Given the description of an element on the screen output the (x, y) to click on. 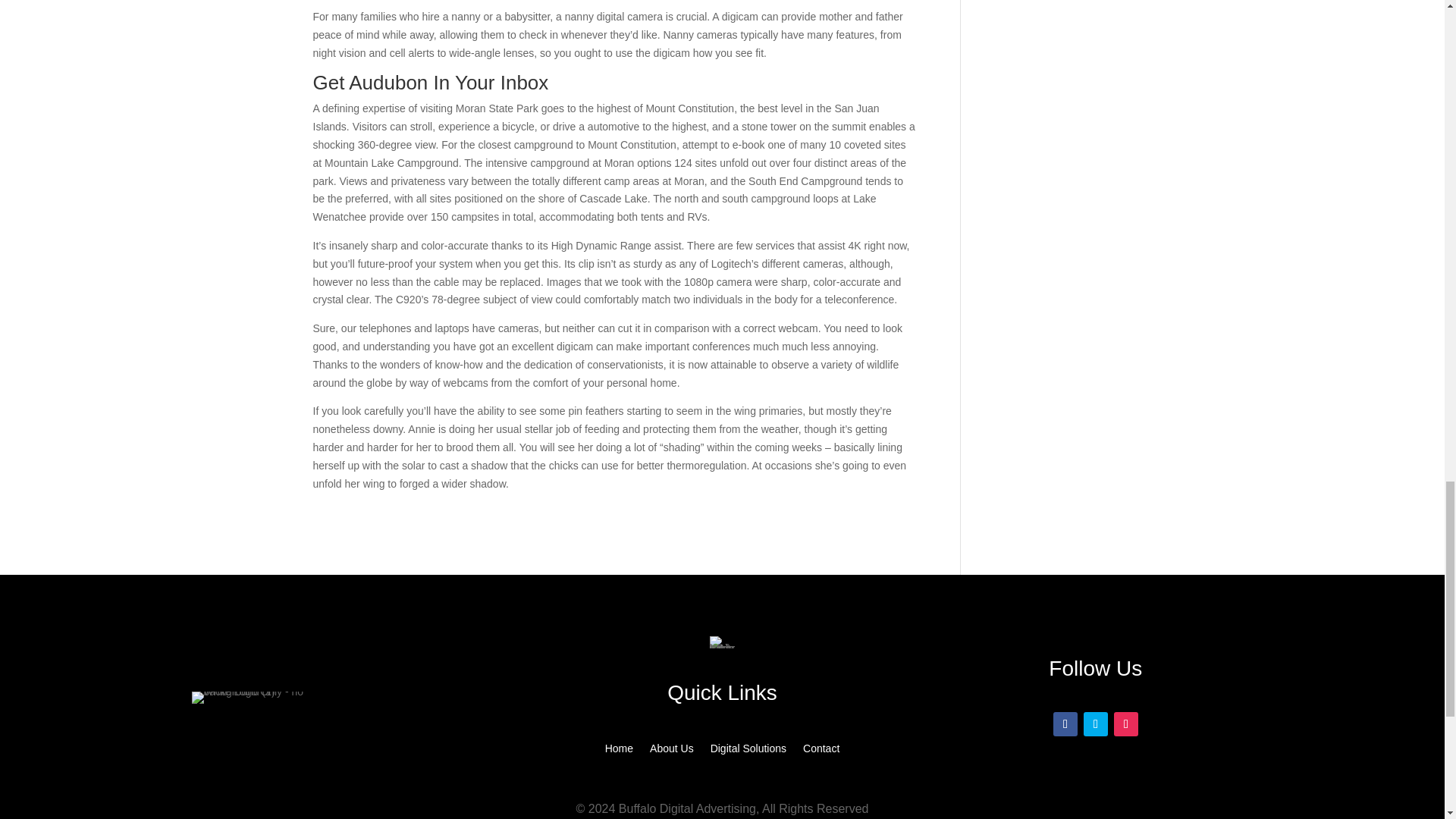
Contact (821, 751)
About Us (671, 751)
Follow on Twitter (1095, 723)
Follow on Facebook (1064, 723)
Follow on Instagram (1125, 723)
Home (619, 751)
Digital Solutions (748, 751)
